Given the description of an element on the screen output the (x, y) to click on. 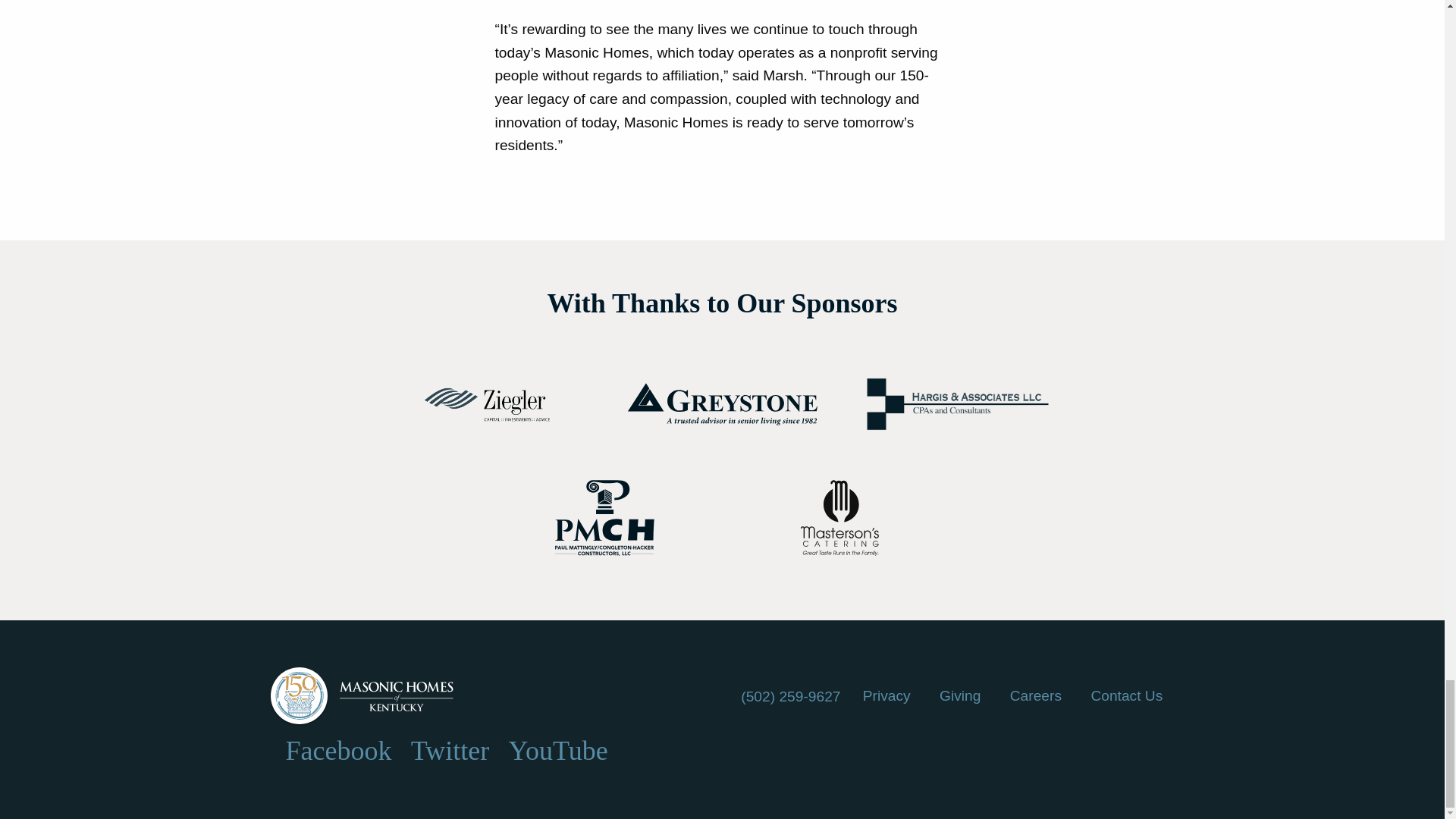
Ziegler (486, 404)
Greystone (721, 404)
Paul MattinglyCongleton-Hacker Constructors, LLC (604, 517)
